Given the description of an element on the screen output the (x, y) to click on. 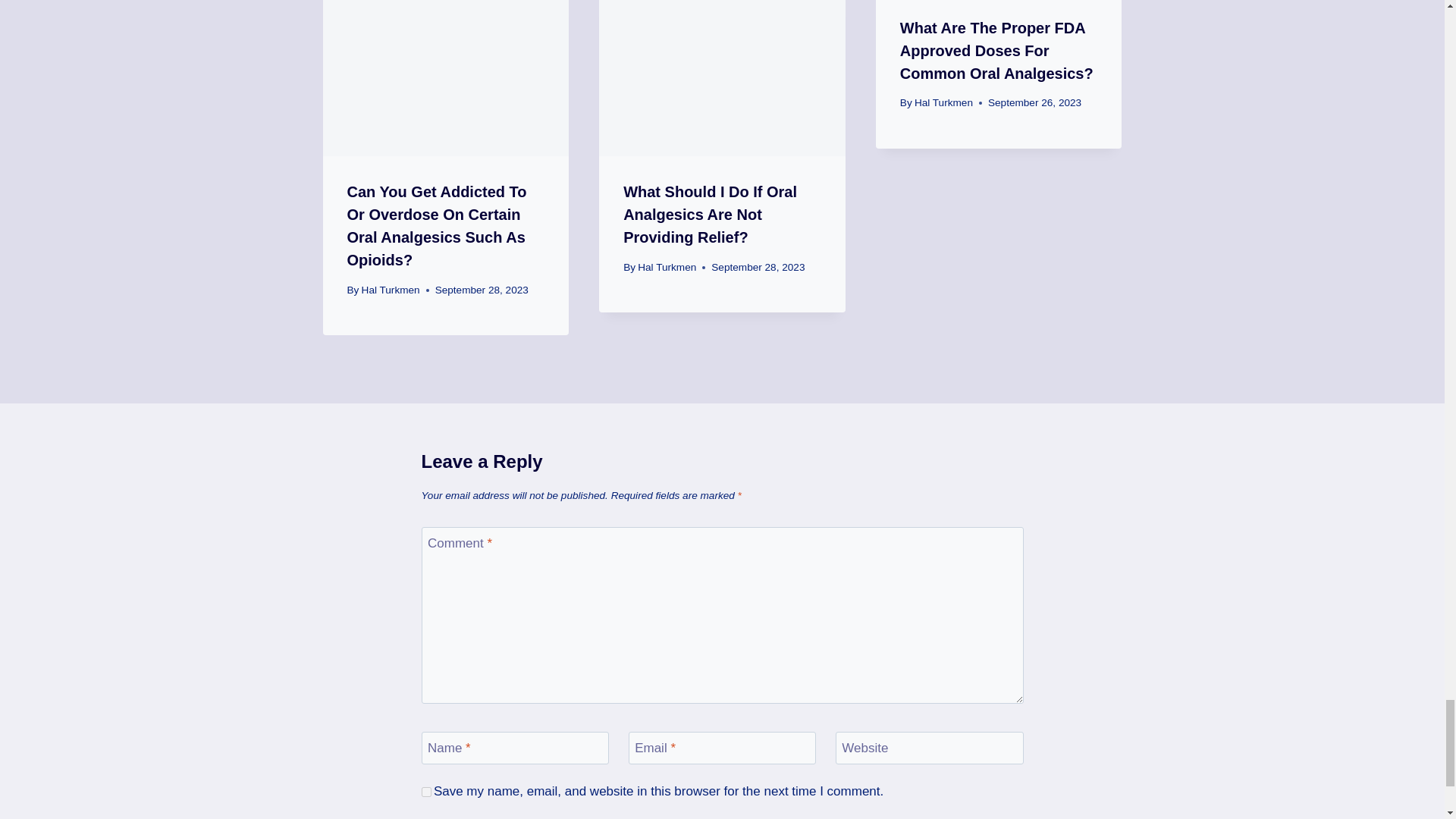
Hal Turkmen (390, 289)
yes (426, 791)
